Given the description of an element on the screen output the (x, y) to click on. 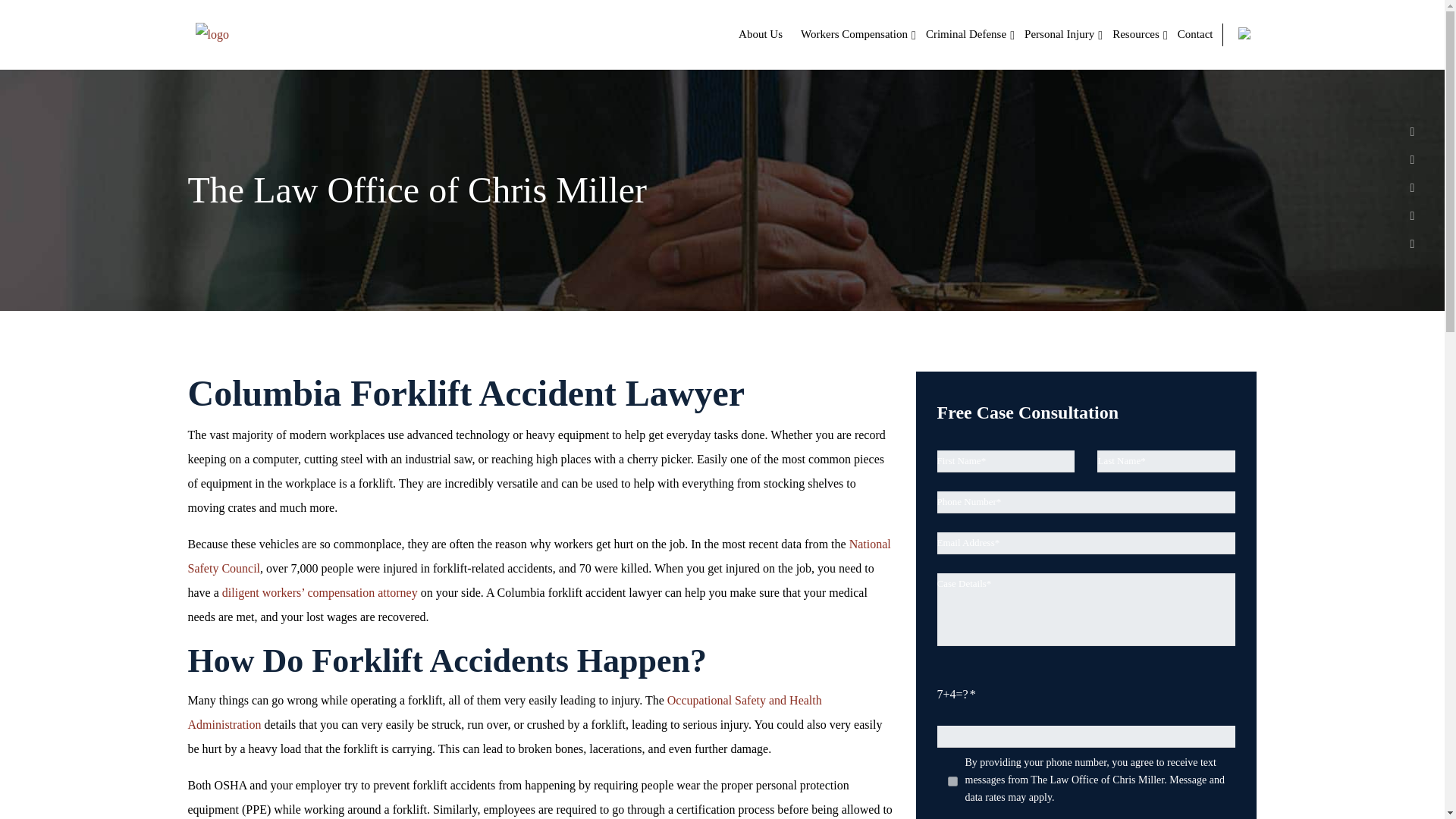
Workers Compensation (853, 34)
Tictok (1411, 242)
Personal Injury (1059, 34)
Instagram (1411, 214)
Linkedin (1411, 158)
Facebook (1411, 130)
Youtube (1411, 187)
Criminal Defense (966, 34)
